Given the description of an element on the screen output the (x, y) to click on. 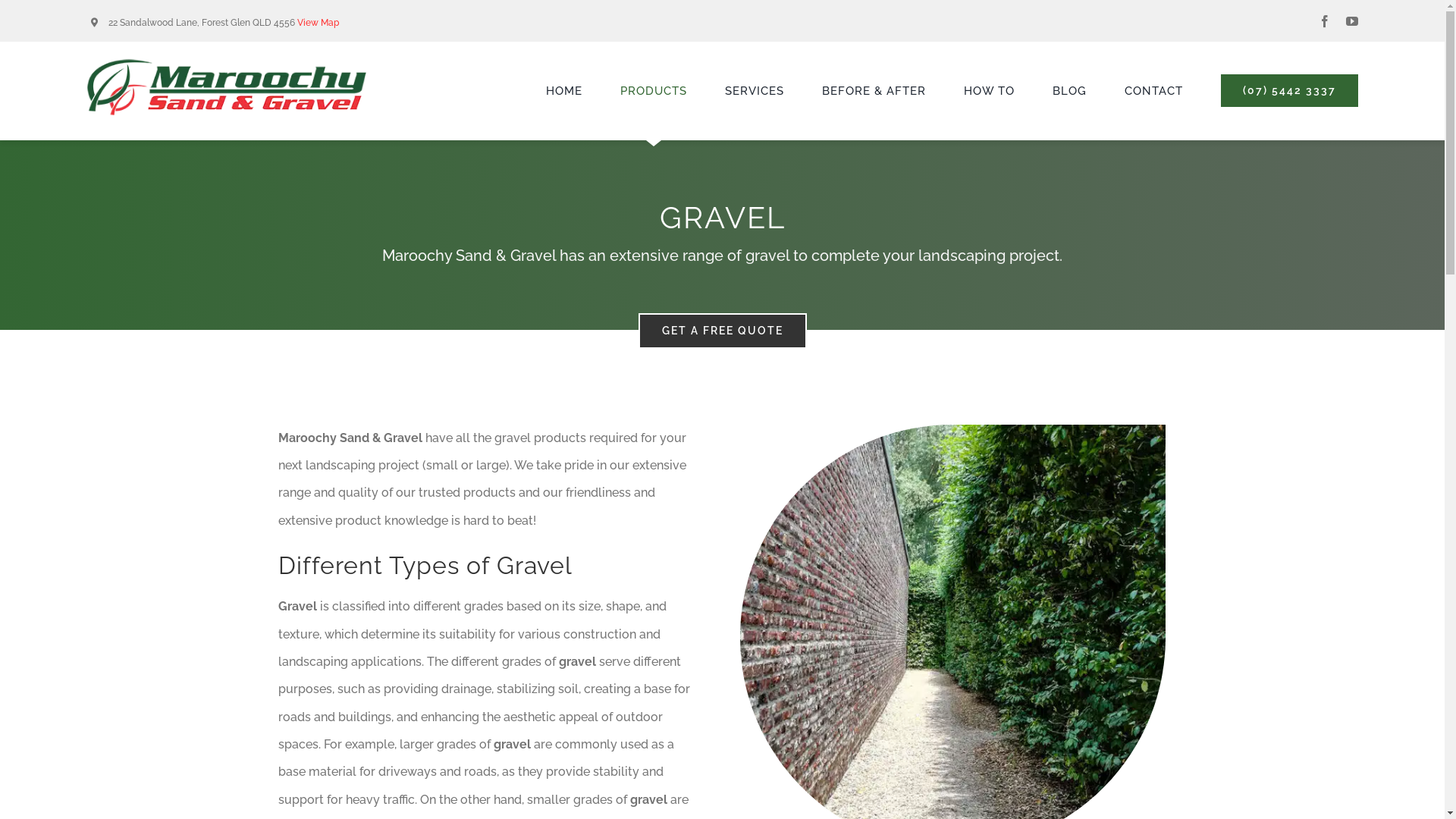
(07) 5442 3337 Element type: text (1289, 90)
Maroochy Sand & Gravel Element type: hover (226, 63)
BEFORE & AFTER Element type: text (873, 90)
View Map Element type: text (317, 22)
GET A FREE QUOTE Element type: text (722, 330)
HOME Element type: text (564, 90)
HOW TO Element type: text (988, 90)
PRODUCTS Element type: text (653, 90)
BLOG Element type: text (1069, 90)
SERVICES Element type: text (754, 90)
CONTACT Element type: text (1153, 90)
gravel supplier Sunshine Coast Element type: hover (953, 430)
